Given the description of an element on the screen output the (x, y) to click on. 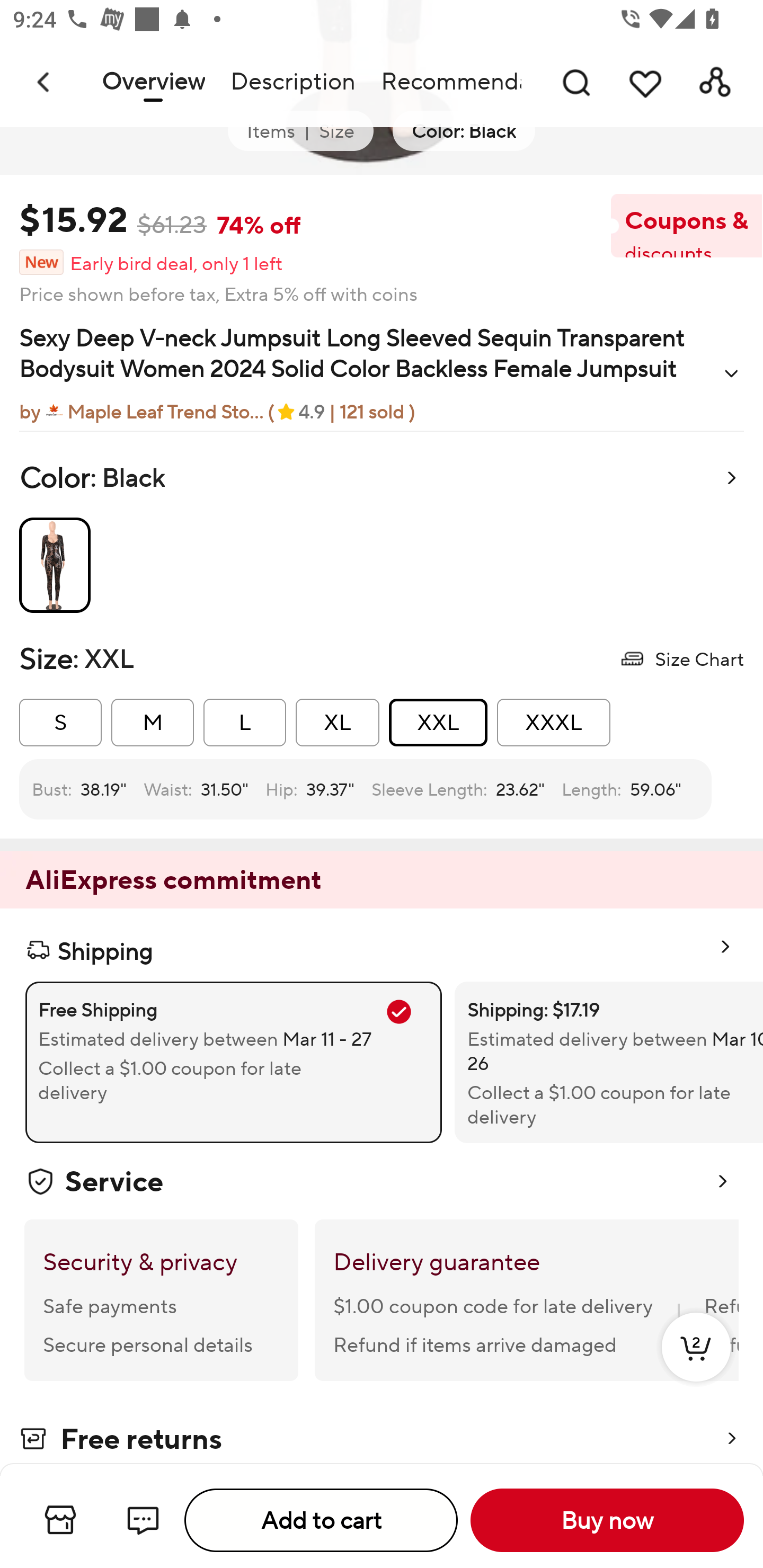
Navigate up (44, 82)
Description (292, 81)
Recommendations (444, 81)
Items (271, 130)
Size (336, 130)
Color: Black (463, 130)
 (730, 372)
Size Chart (680, 658)
S (60, 722)
M (152, 722)
L (244, 722)
XL (337, 722)
XXL (438, 722)
XXXL (553, 722)
2 (695, 1366)
Free returns  (381, 1439)
Add to cart (320, 1520)
Buy now (606, 1520)
